Given the description of an element on the screen output the (x, y) to click on. 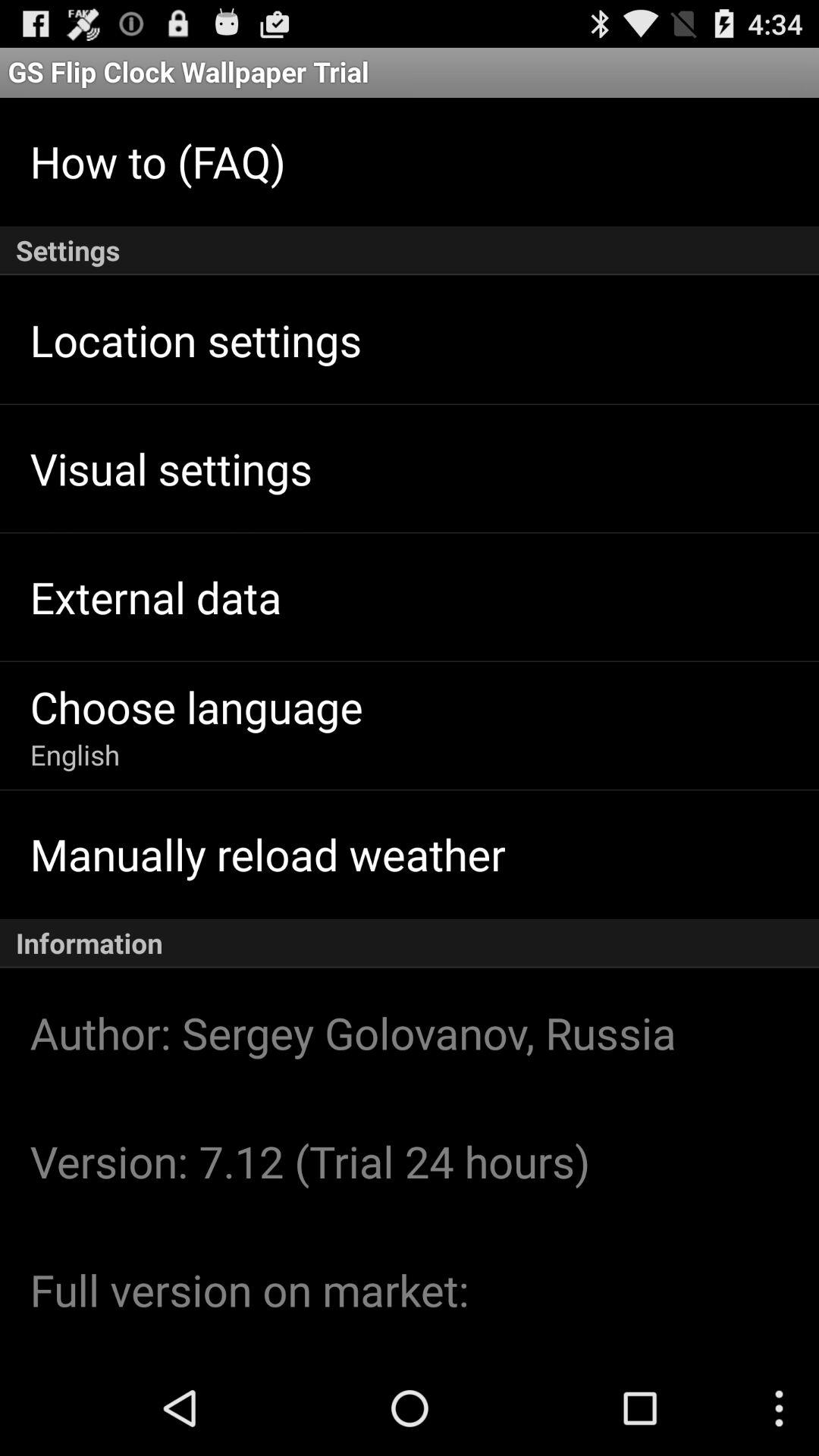
launch the how to (faq) app (157, 160)
